Given the description of an element on the screen output the (x, y) to click on. 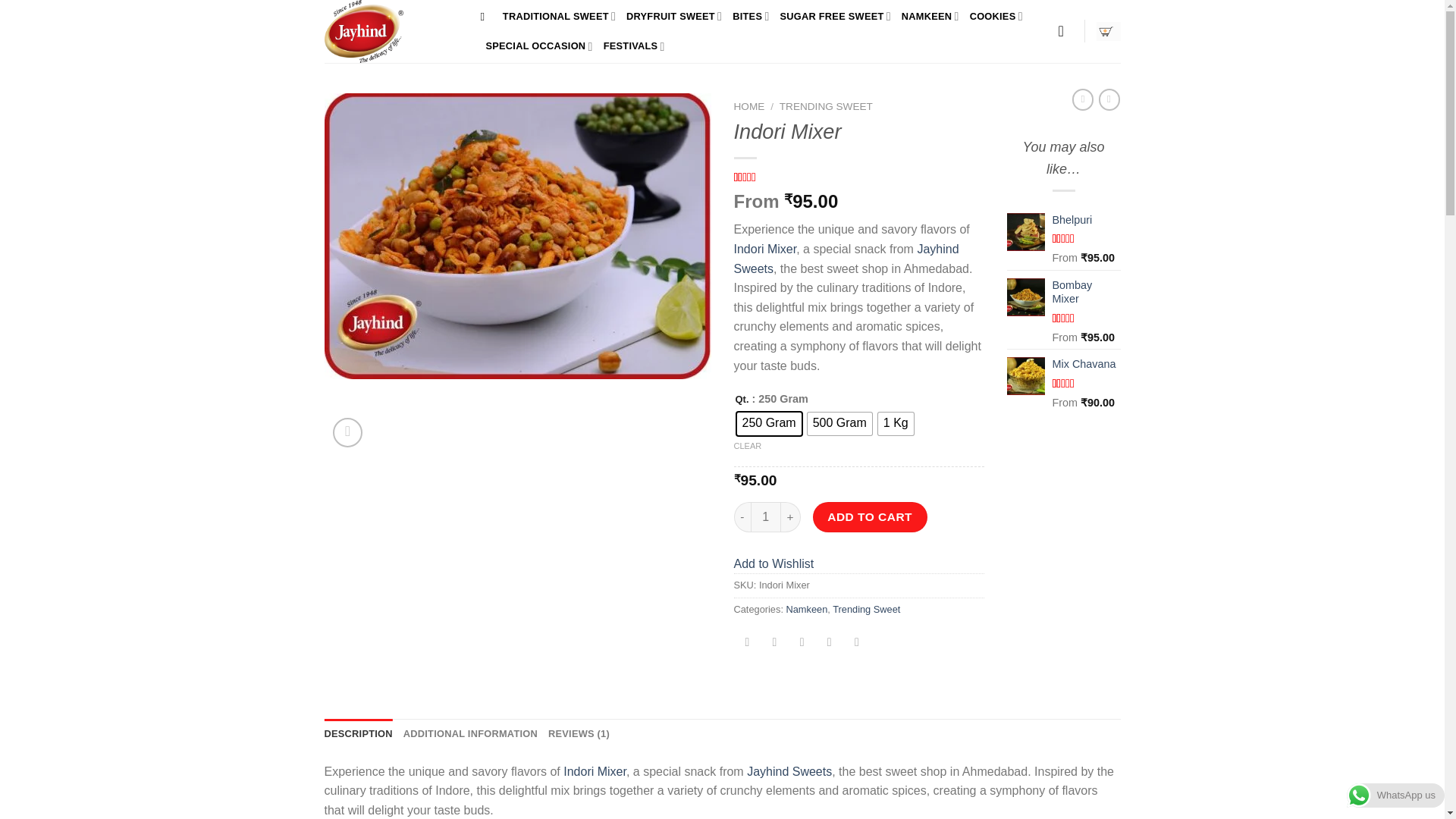
Zoom (347, 432)
1 customer review (763, 177)
250 Gram (769, 423)
TRADITIONAL SWEET (558, 16)
1 (765, 517)
